Given the description of an element on the screen output the (x, y) to click on. 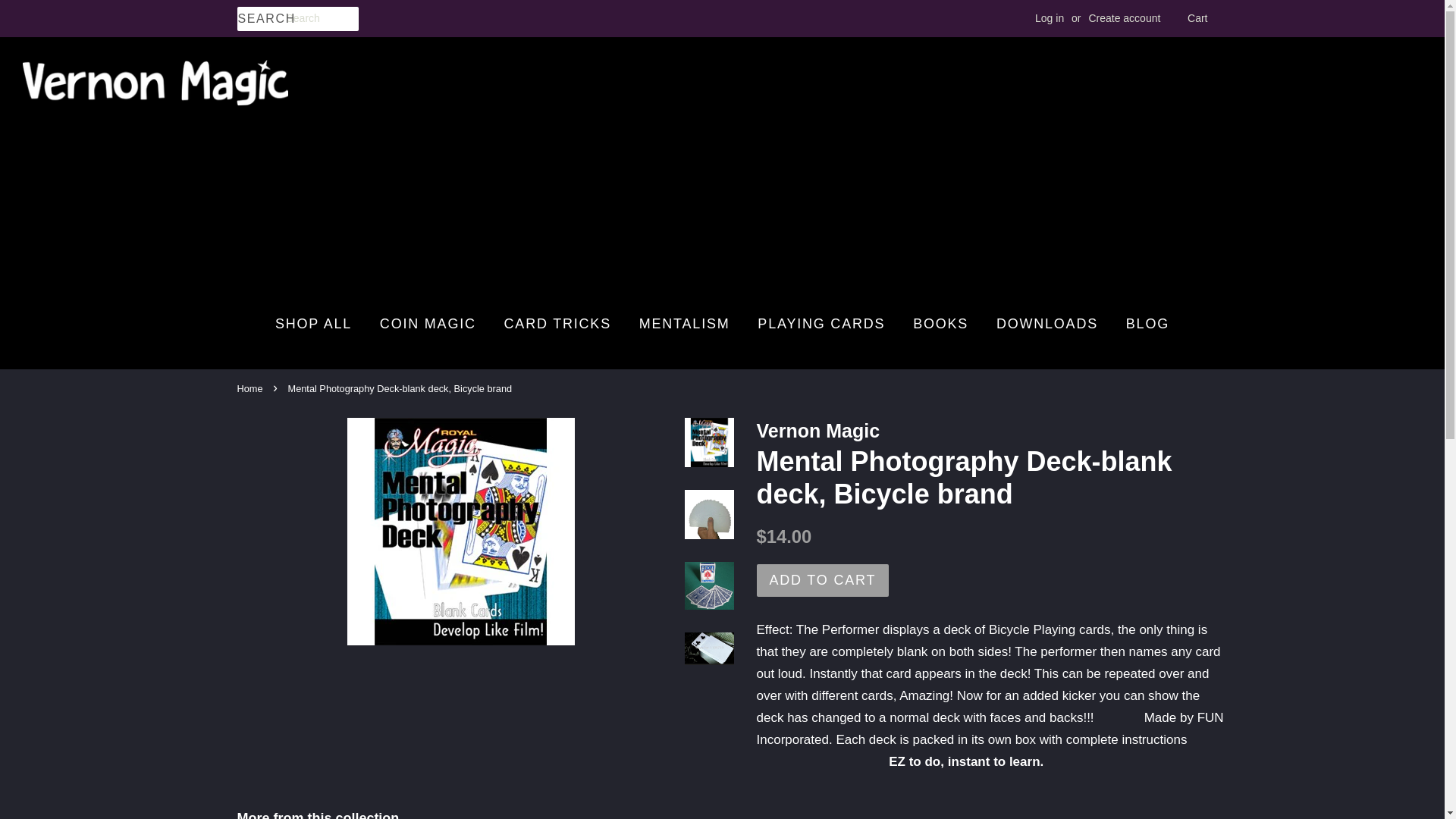
SHOP ALL (318, 324)
COIN MAGIC (427, 324)
Create account (1123, 18)
ADD TO CART (823, 580)
Cart (1197, 18)
CARD TRICKS (558, 324)
MENTALISM (684, 324)
Log in (1049, 18)
DOWNLOADS (1047, 324)
Home (250, 388)
SEARCH (260, 18)
Back to the frontpage (250, 388)
BOOKS (940, 324)
BLOG (1142, 324)
PLAYING CARDS (820, 324)
